Given the description of an element on the screen output the (x, y) to click on. 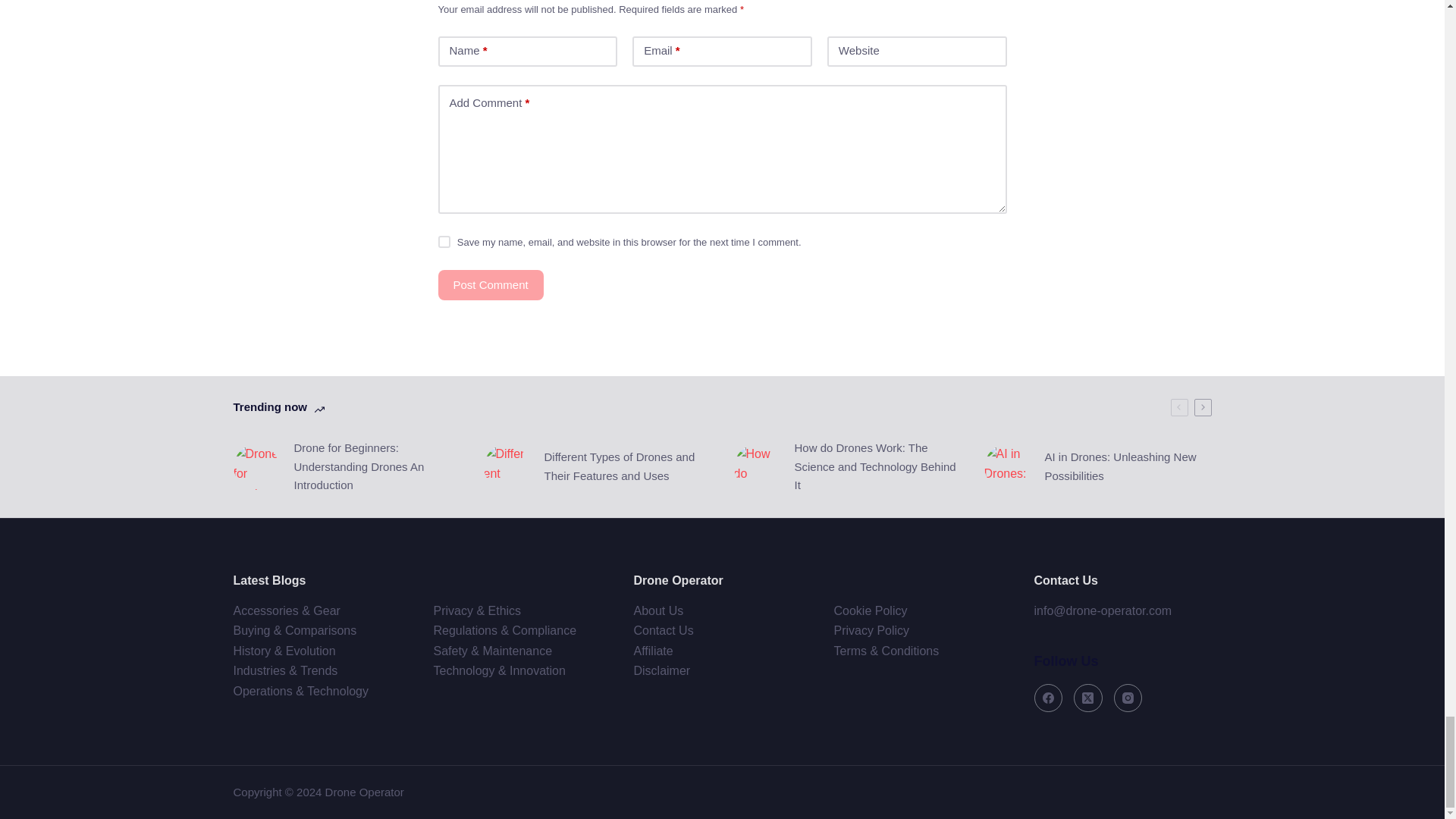
yes (443, 241)
